Given the description of an element on the screen output the (x, y) to click on. 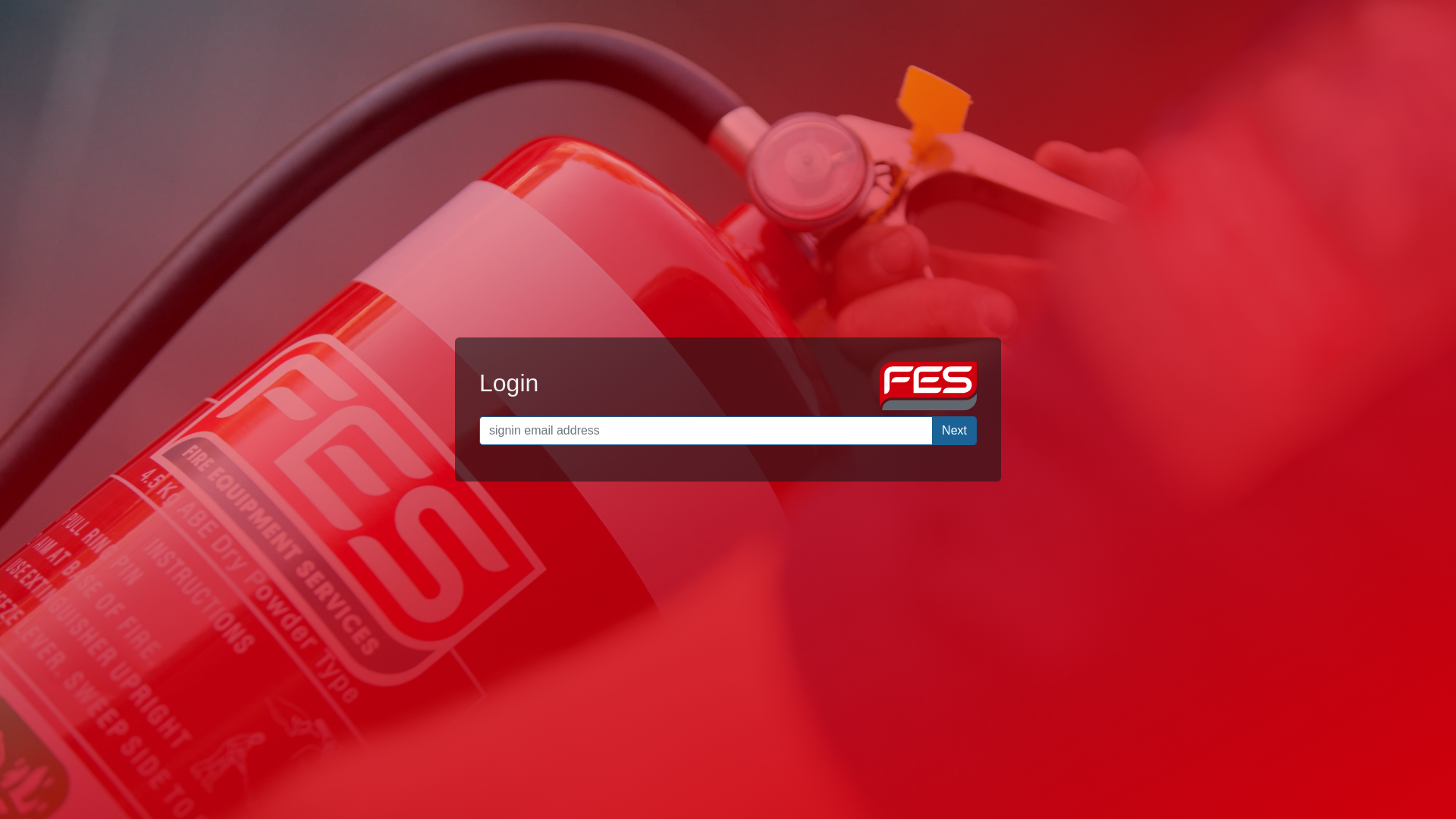
Next Element type: text (953, 430)
